Given the description of an element on the screen output the (x, y) to click on. 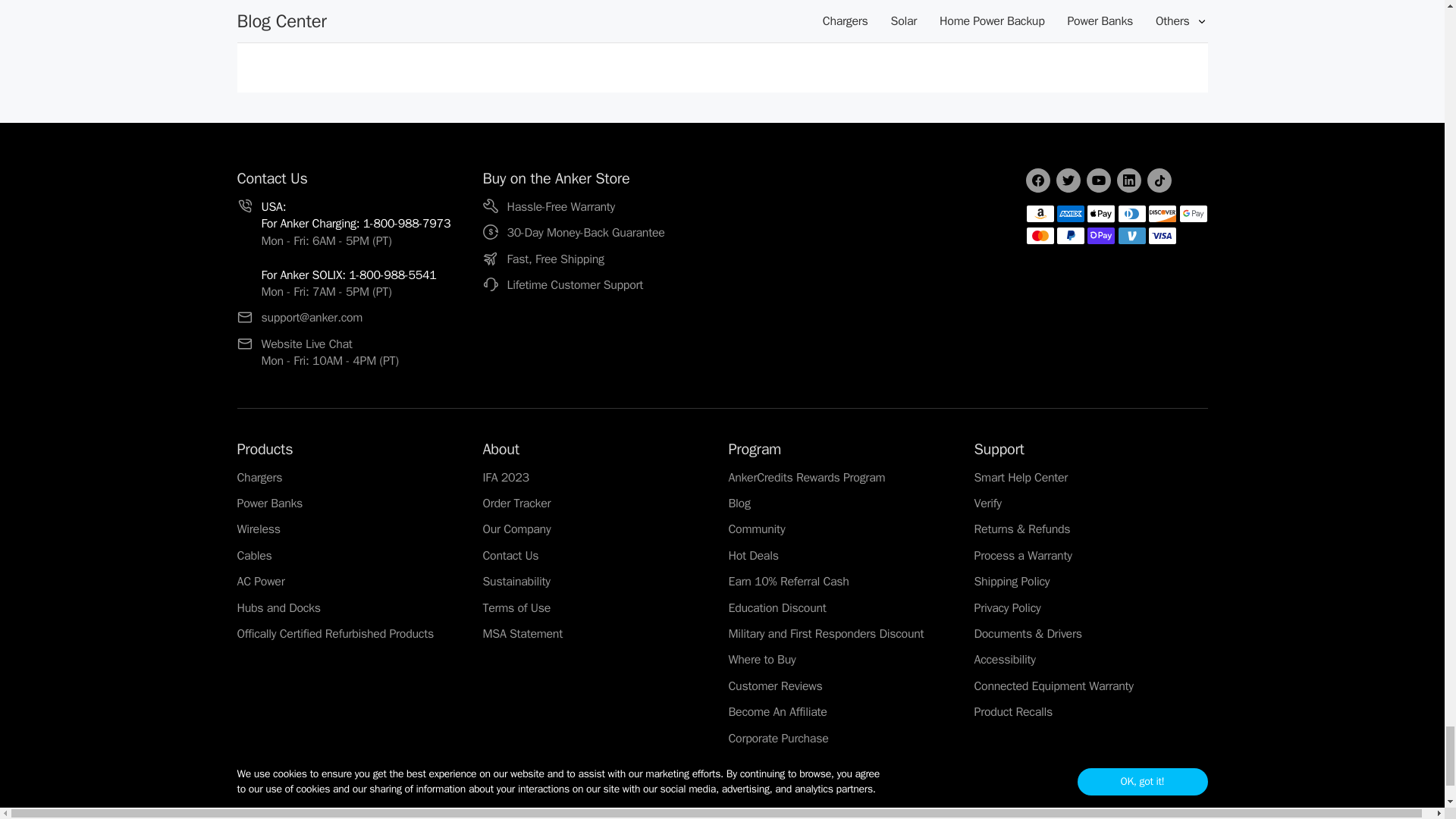
Exploring the Wonders of Camping in California (435, 6)
The Best Camping in Colorado - Discover Nature's Paradise (725, 6)
